Given the description of an element on the screen output the (x, y) to click on. 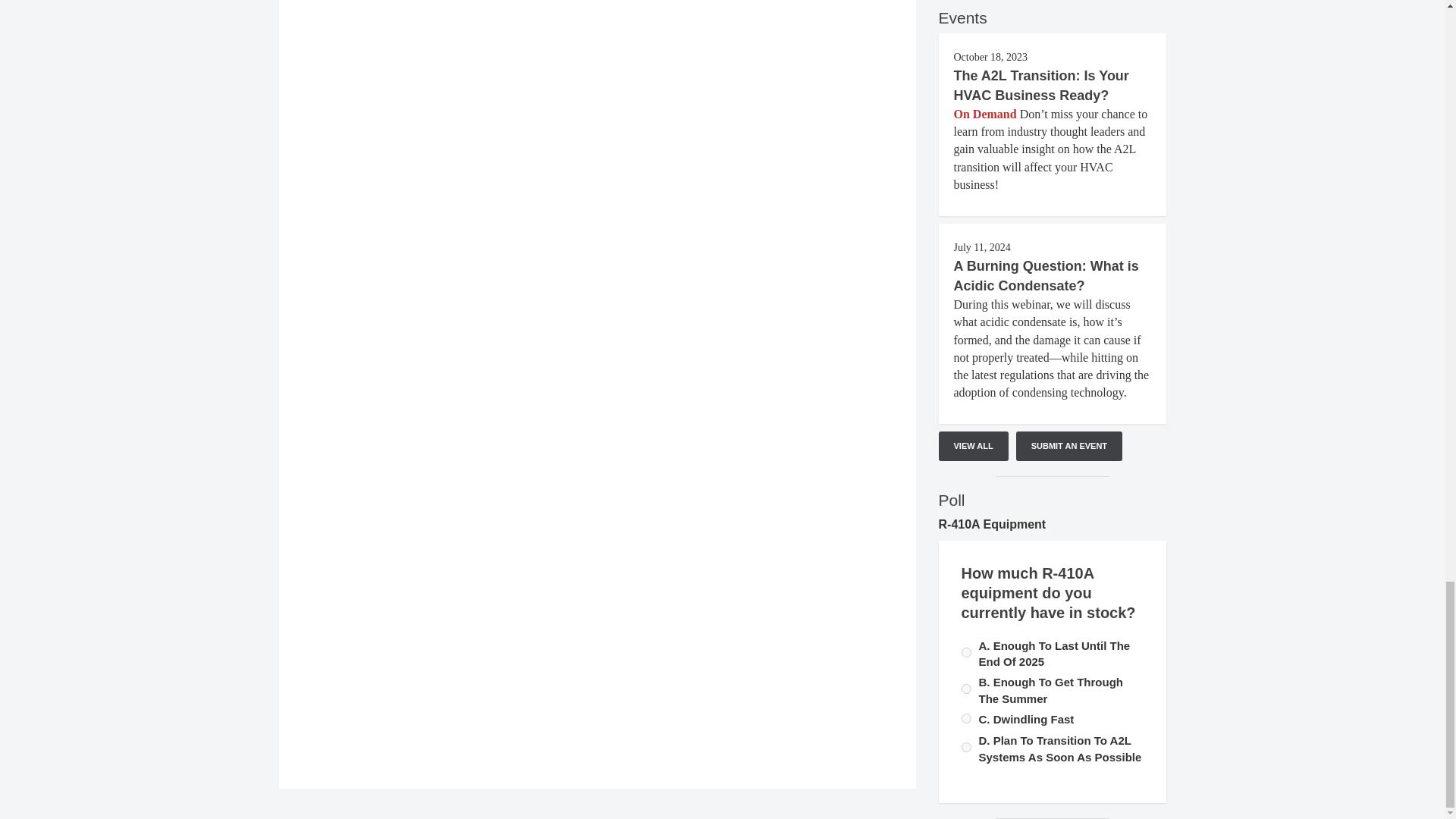
598 (965, 718)
The A2L Transition: Is Your HVAC Business Ready? (1041, 85)
596 (965, 688)
597 (965, 652)
599 (965, 747)
A Burning Question: What is Acidic Condensate? (1045, 275)
